Given the description of an element on the screen output the (x, y) to click on. 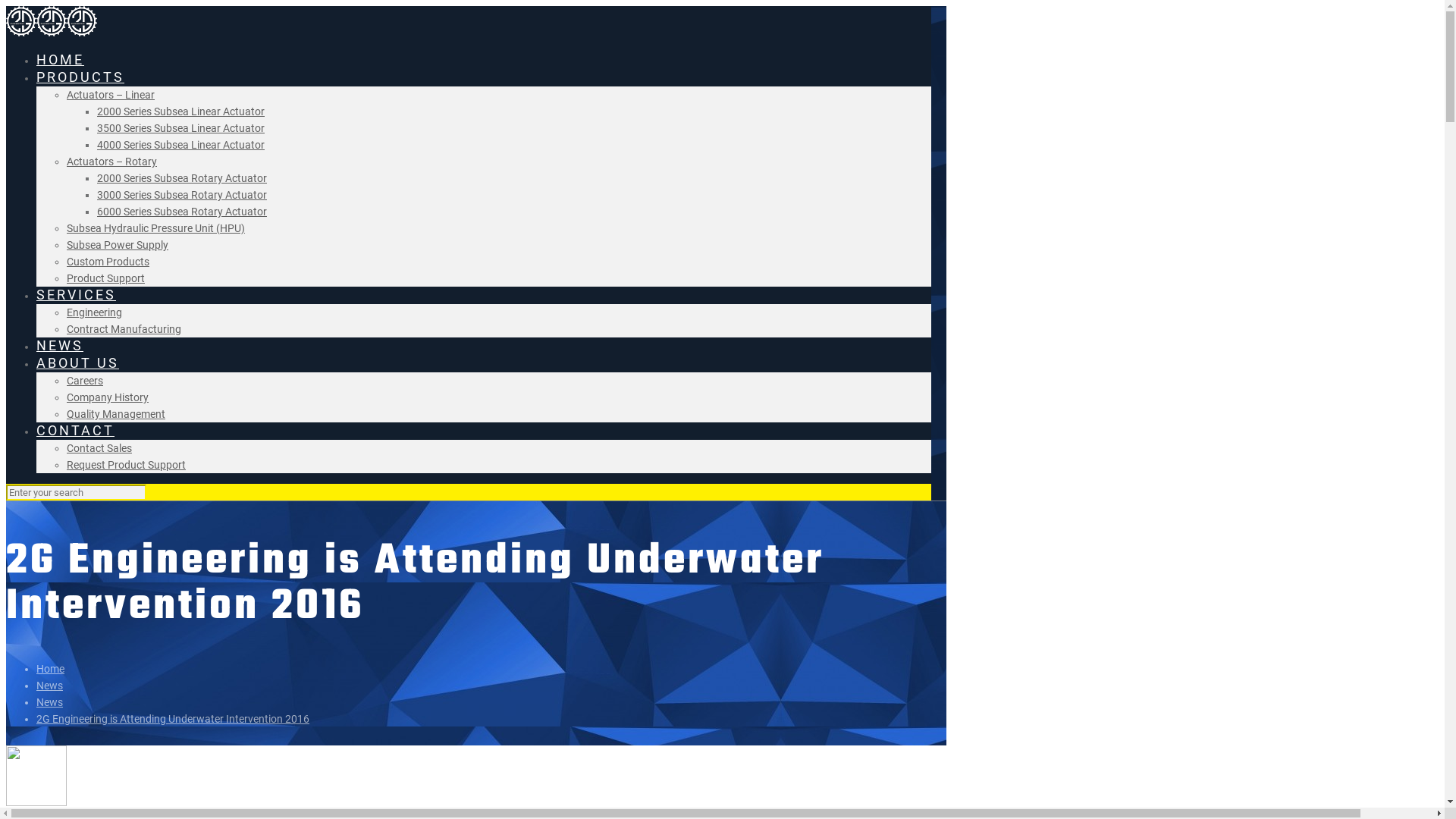
News Element type: text (49, 685)
Contract Manufacturing Element type: text (123, 329)
Custom Products Element type: text (107, 261)
3000 Series Subsea Rotary Actuator Element type: text (181, 194)
2000 Series Subsea Rotary Actuator Element type: text (181, 178)
Request Product Support Element type: text (125, 464)
4000 Series Subsea Linear Actuator Element type: text (180, 144)
Subsea Hydraulic Pressure Unit (HPU) Element type: text (155, 228)
3500 Series Subsea Linear Actuator Element type: text (180, 128)
PRODUCTS Element type: text (80, 76)
SERVICES Element type: text (76, 294)
2G Engineering Element type: hover (51, 32)
6000 Series Subsea Rotary Actuator Element type: text (181, 211)
Contact Sales Element type: text (98, 448)
Home Element type: text (50, 668)
Company History Element type: text (107, 397)
Quality Management Element type: text (115, 413)
Careers Element type: text (84, 380)
2G Engineering is Attending Underwater Intervention 2016 Element type: text (172, 718)
HOME Element type: text (60, 59)
NEWS Element type: text (59, 345)
CONTACT Element type: text (75, 430)
News Element type: text (49, 702)
2000 Series Subsea Linear Actuator Element type: text (180, 111)
Product Support Element type: text (105, 278)
Engineering Element type: text (94, 312)
Subsea Power Supply Element type: text (117, 244)
ABOUT US Element type: text (77, 362)
